Given the description of an element on the screen output the (x, y) to click on. 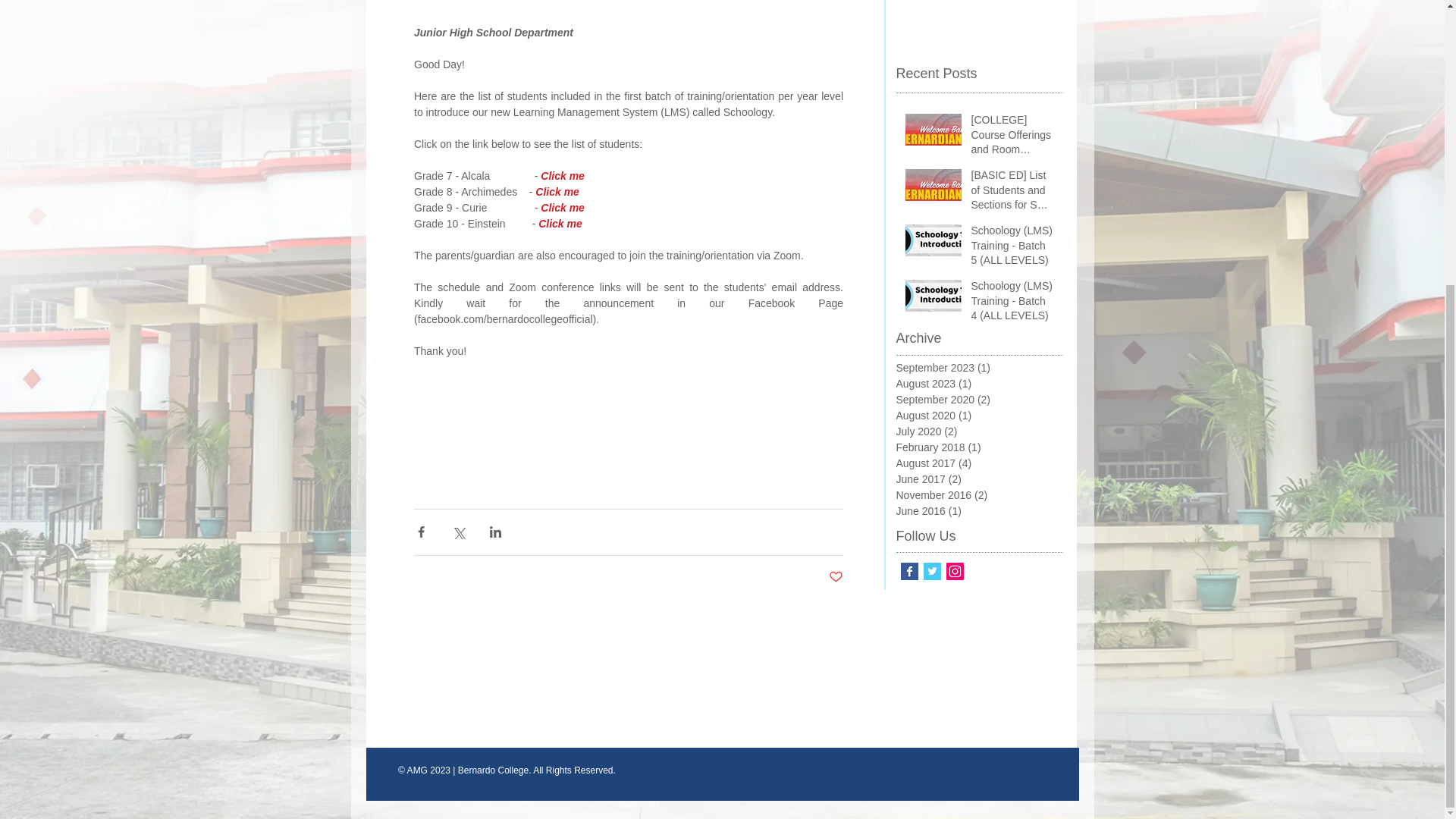
Click me (562, 207)
Click me (557, 191)
Click me  (563, 175)
Click me (560, 223)
TESDA Scholarship Vouchers Available! (978, 14)
TESDA Scholarship Vouchers Available! (978, 14)
